Given the description of an element on the screen output the (x, y) to click on. 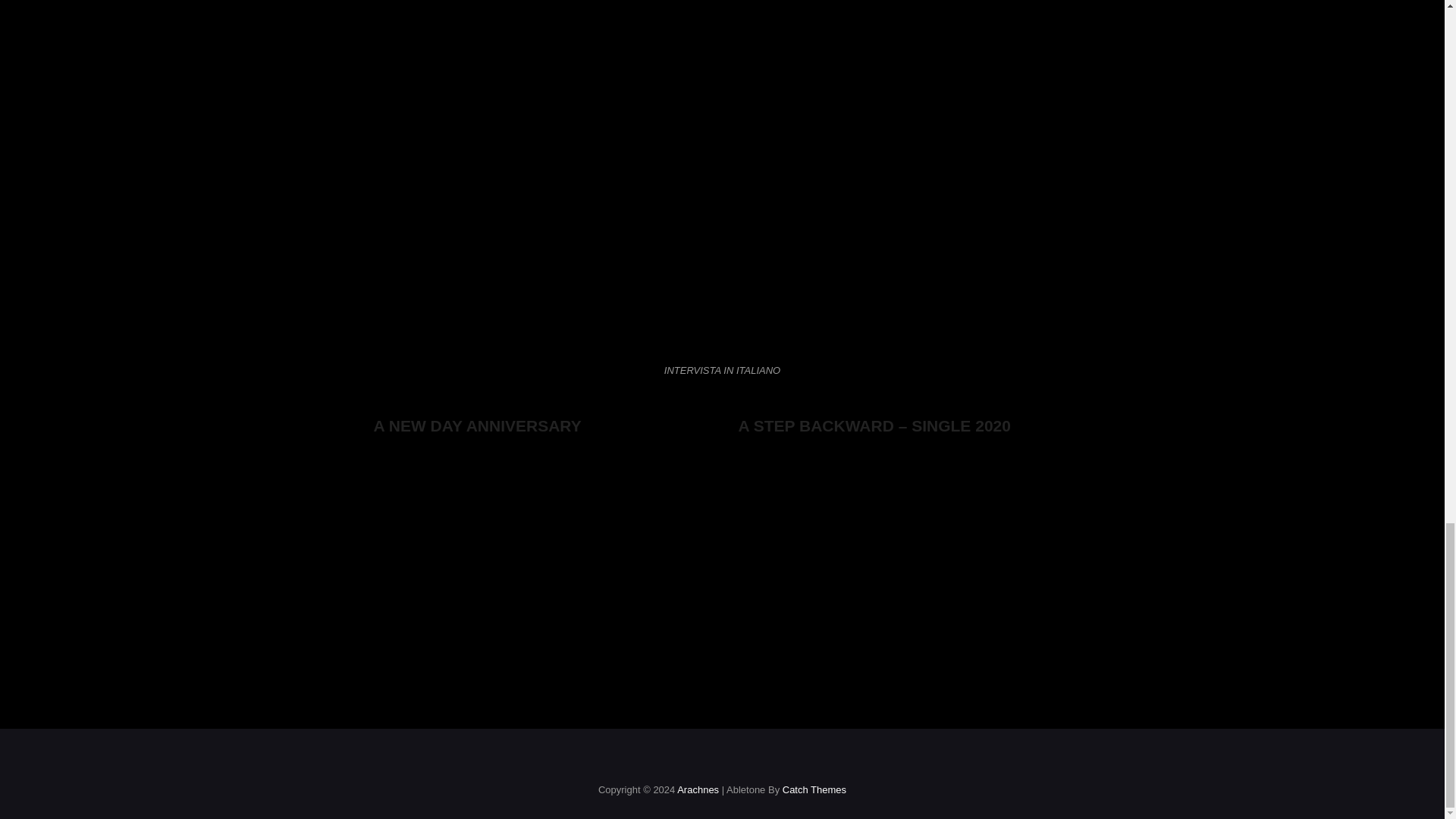
Arachnes (698, 789)
Catch Themes (814, 789)
